Given the description of an element on the screen output the (x, y) to click on. 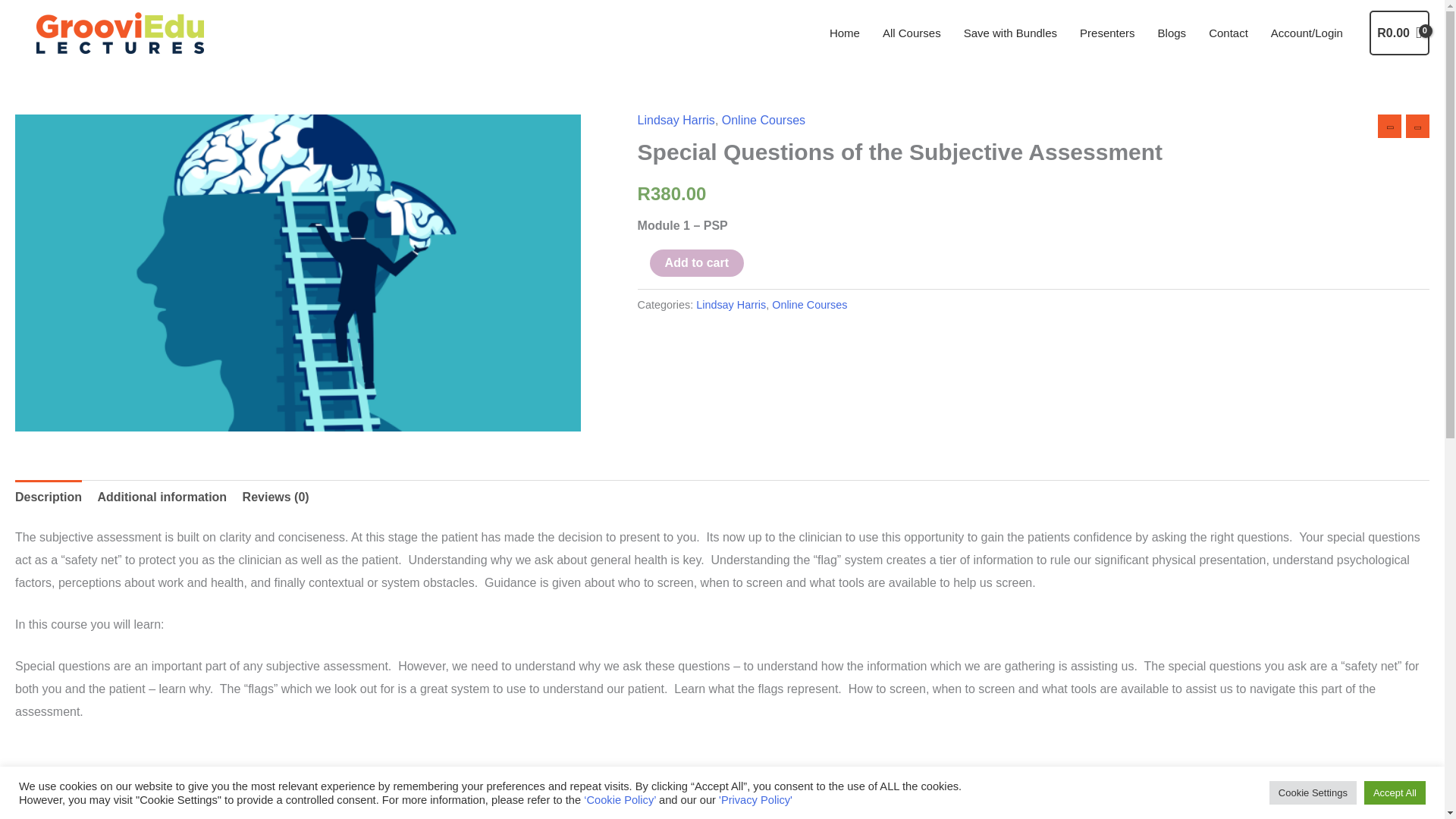
Description (47, 497)
Lindsay Harris (730, 304)
Home (844, 31)
Online Courses (763, 119)
Contact (1227, 31)
Save with Bundles (1010, 31)
Additional information (162, 497)
R0.00 (1399, 33)
Presenters (1107, 31)
Lindsay Harris (675, 119)
Online Courses (809, 304)
All Courses (911, 31)
Add to cart (696, 262)
Blogs (1172, 31)
